Given the description of an element on the screen output the (x, y) to click on. 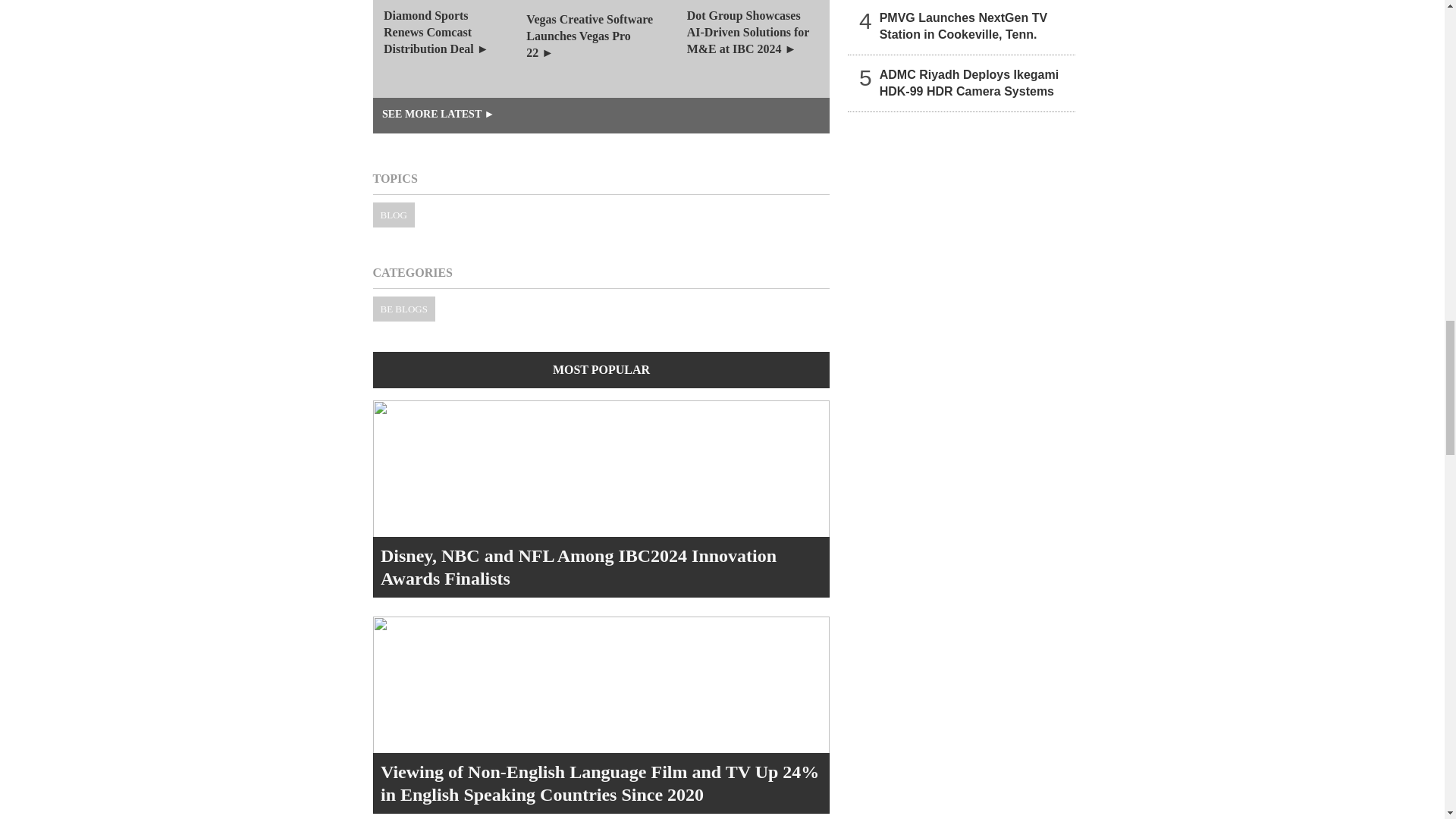
BE BLOGS (403, 308)
BLOG (393, 214)
Diamond Sports Renews Comcast Distribution Deal (448, 48)
Vegas Creative Software Launches Vegas Pro 22 (600, 48)
